Given the description of an element on the screen output the (x, y) to click on. 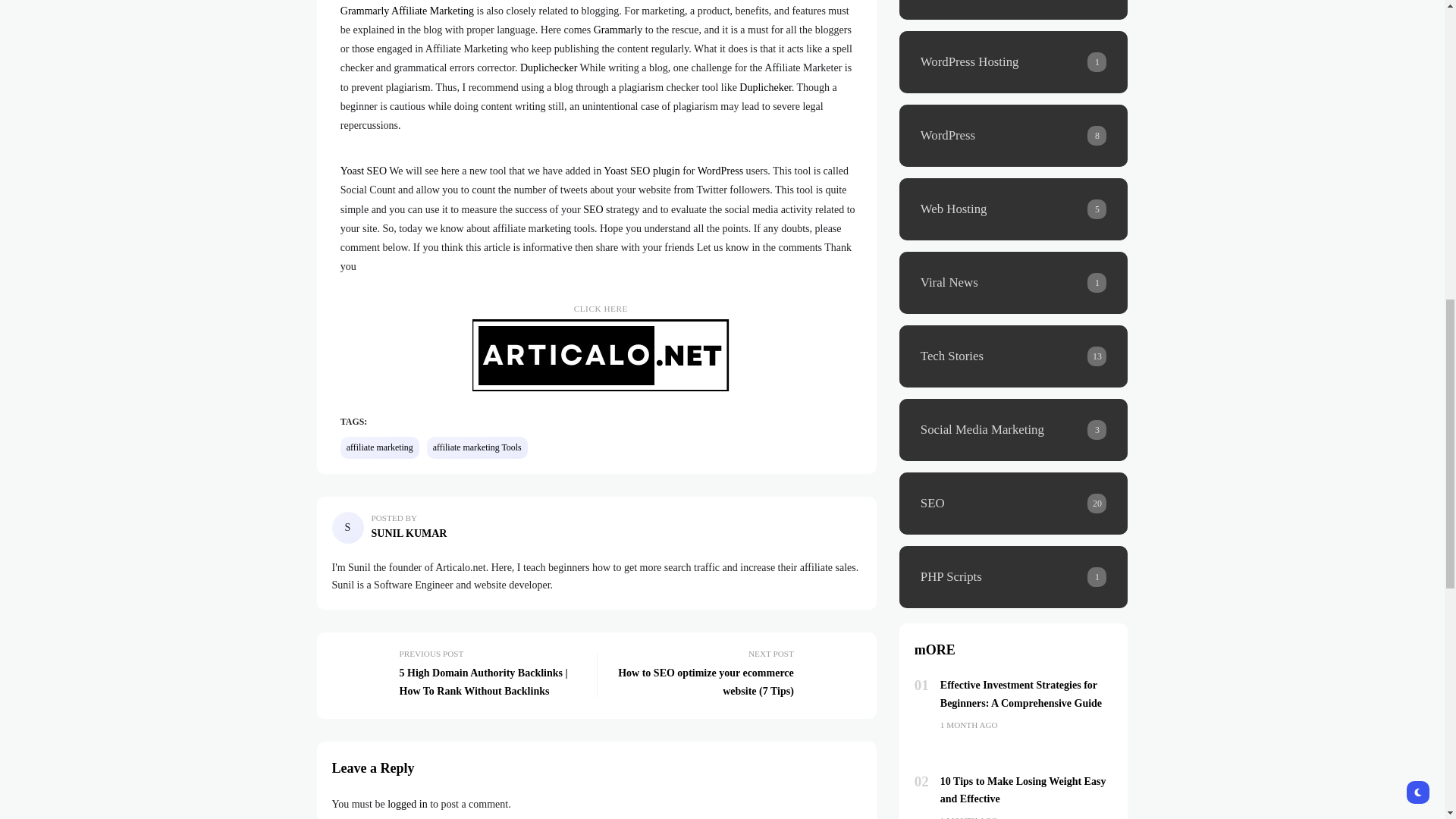
Duplichecker (547, 67)
Yoast SEO (363, 170)
SEO (592, 209)
Grammarly Affiliate Marketing (407, 10)
WordPress (719, 170)
Grammarly (618, 30)
Duplicheker (764, 87)
Yoast SEO plugin (641, 170)
